Given the description of an element on the screen output the (x, y) to click on. 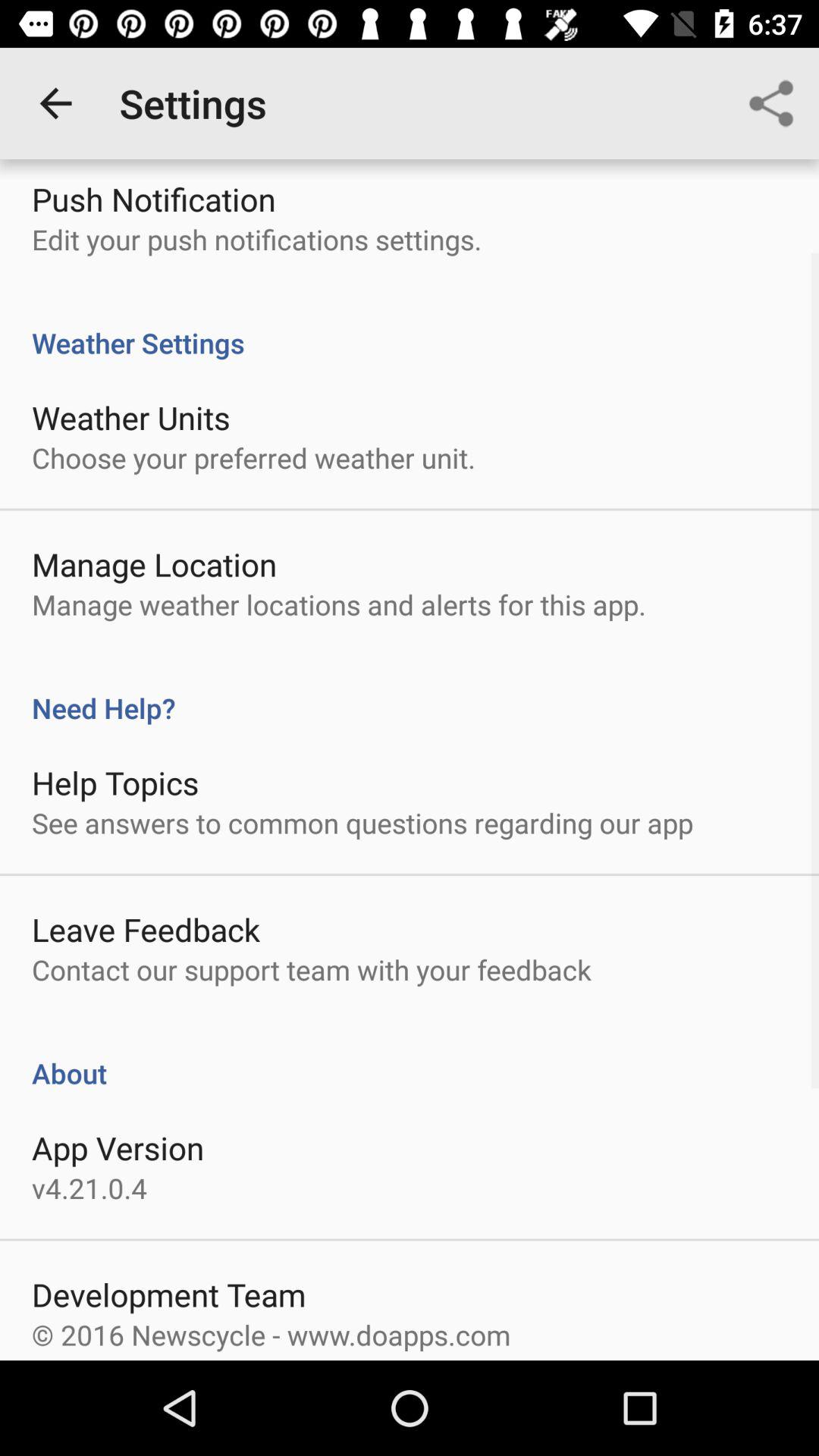
select 2016 newscycle www item (270, 1334)
